Given the description of an element on the screen output the (x, y) to click on. 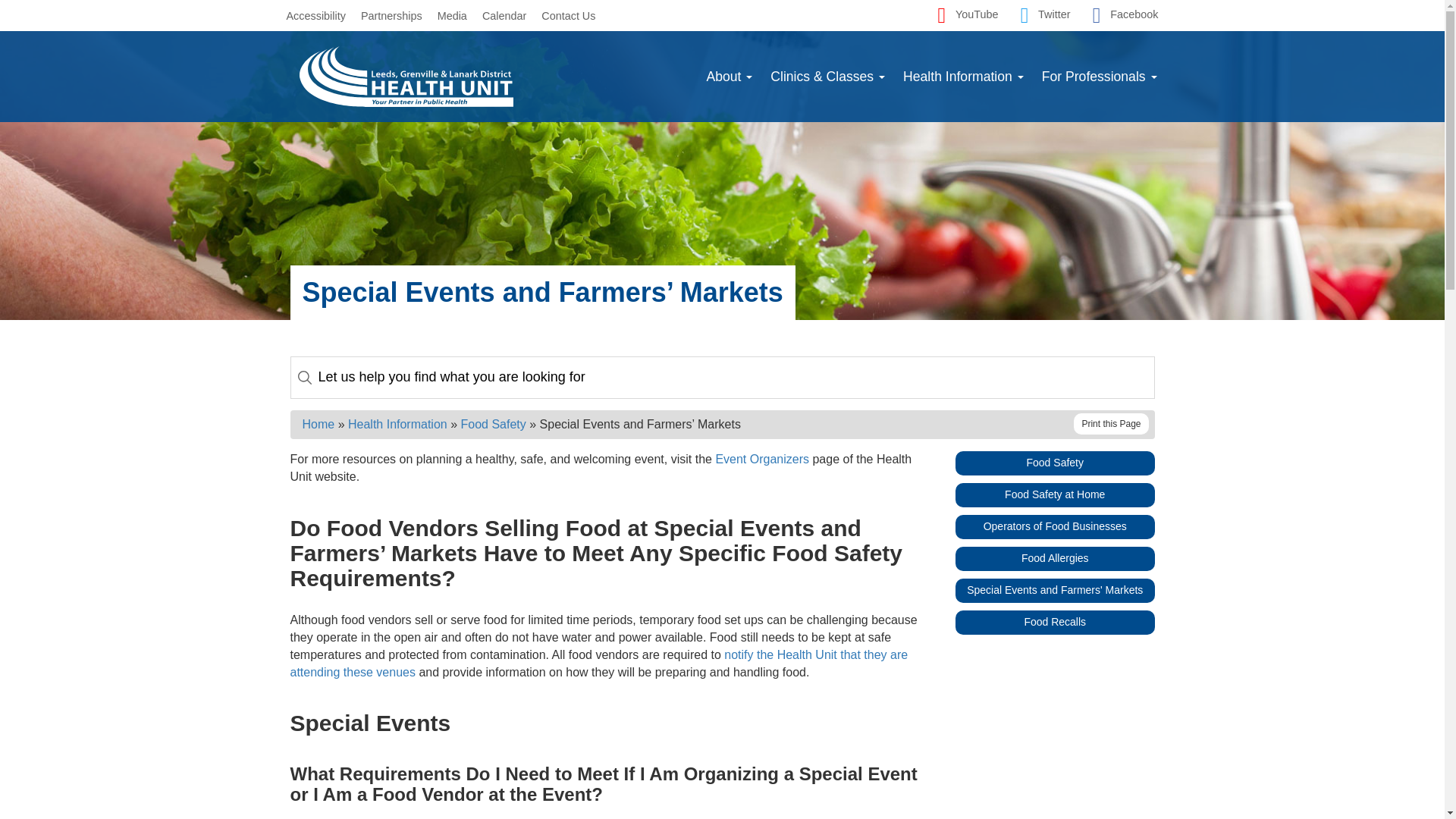
Health Information (962, 76)
Twitter (1042, 15)
Facebook (1122, 15)
YouTube (964, 15)
Leeds, Grenville and Lanark District Health Unit (405, 76)
About (729, 76)
